Given the description of an element on the screen output the (x, y) to click on. 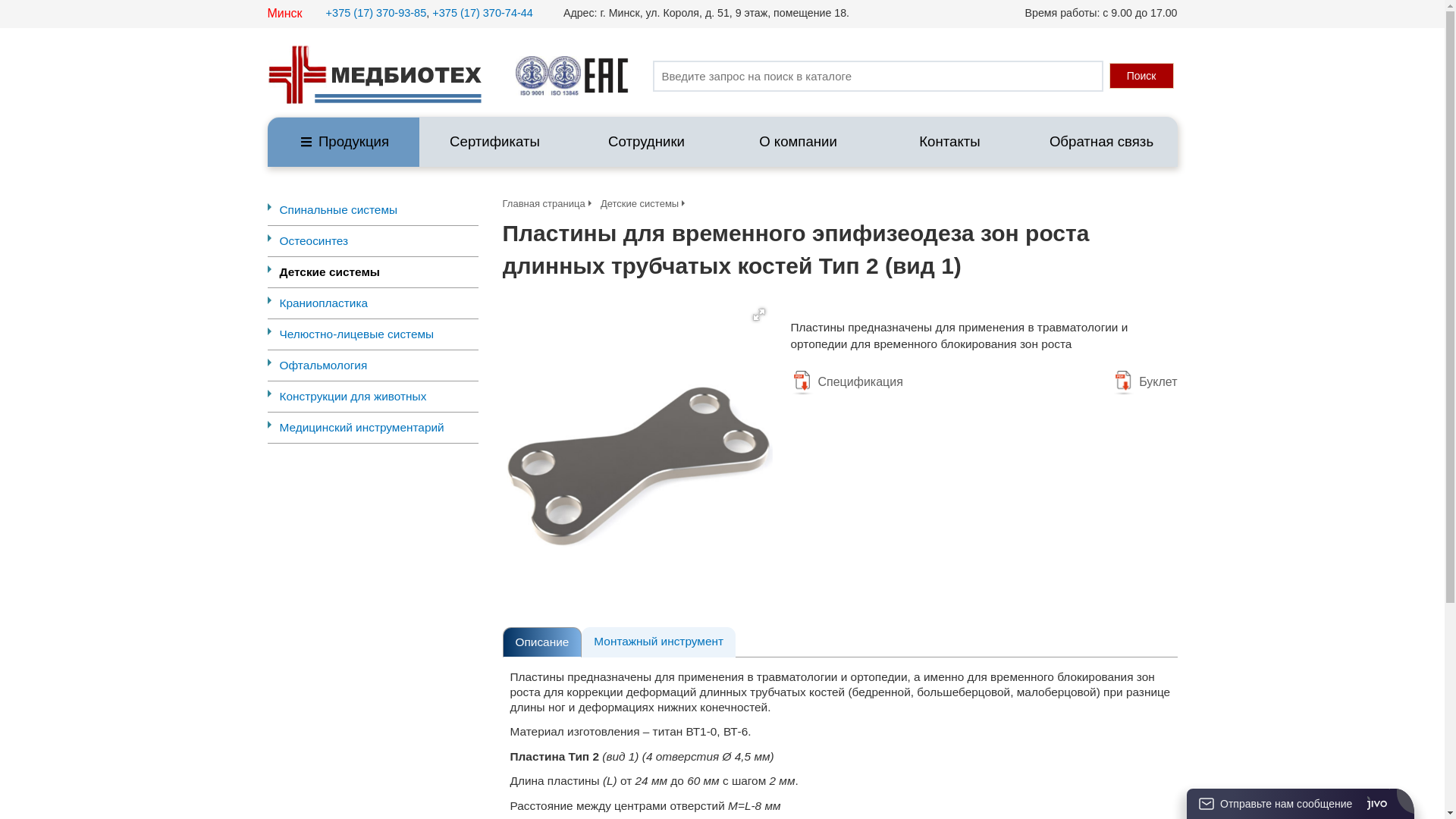
Iso 13845 Element type: hover (564, 75)
Iso_9001 Element type: hover (531, 75)
+375 (17) 370-93-85 Element type: text (376, 12)
EAC Element type: hover (605, 75)
+375 (17) 370-74-44 Element type: text (482, 12)
